Given the description of an element on the screen output the (x, y) to click on. 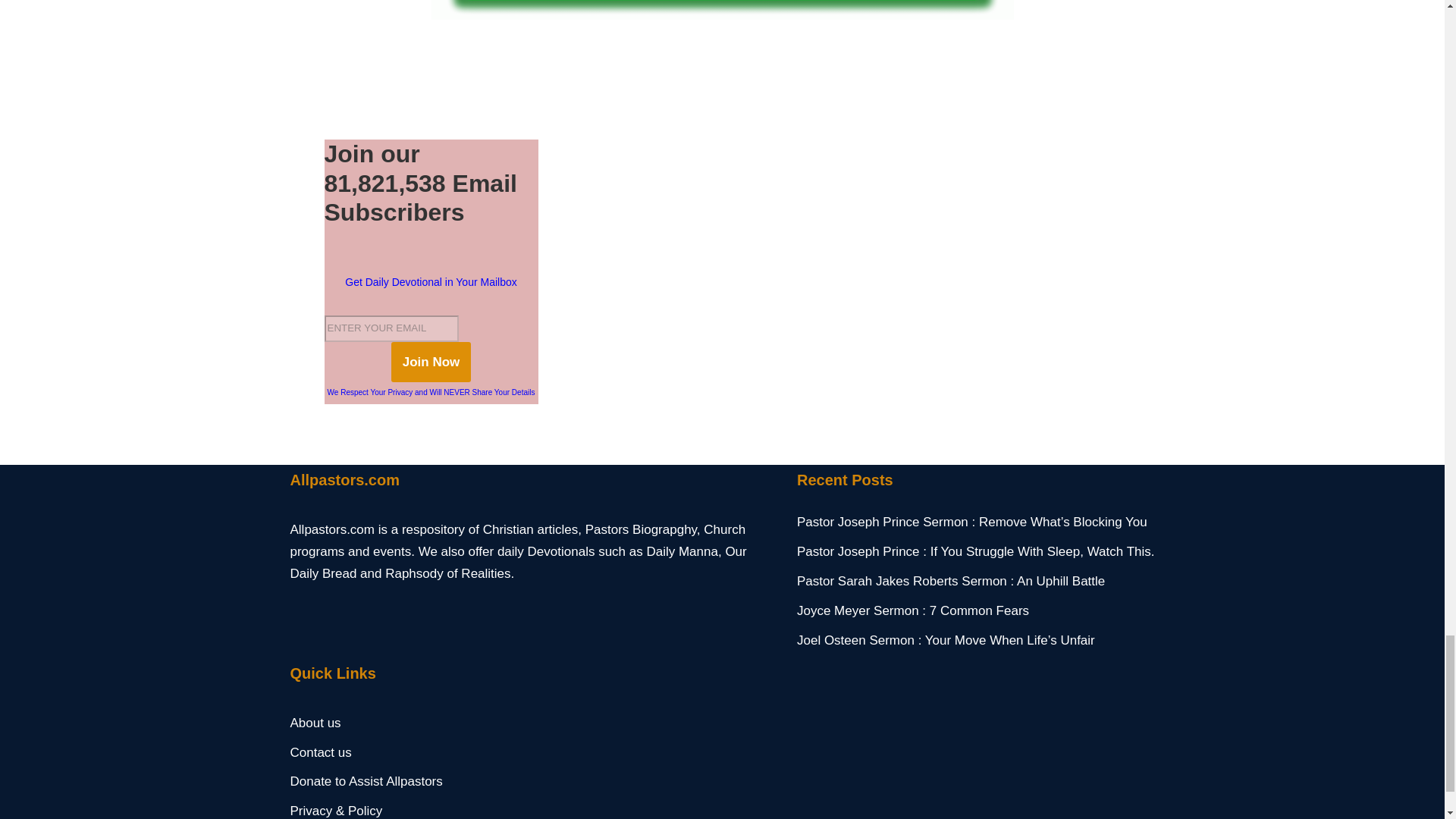
Join Now (431, 362)
